Given the description of an element on the screen output the (x, y) to click on. 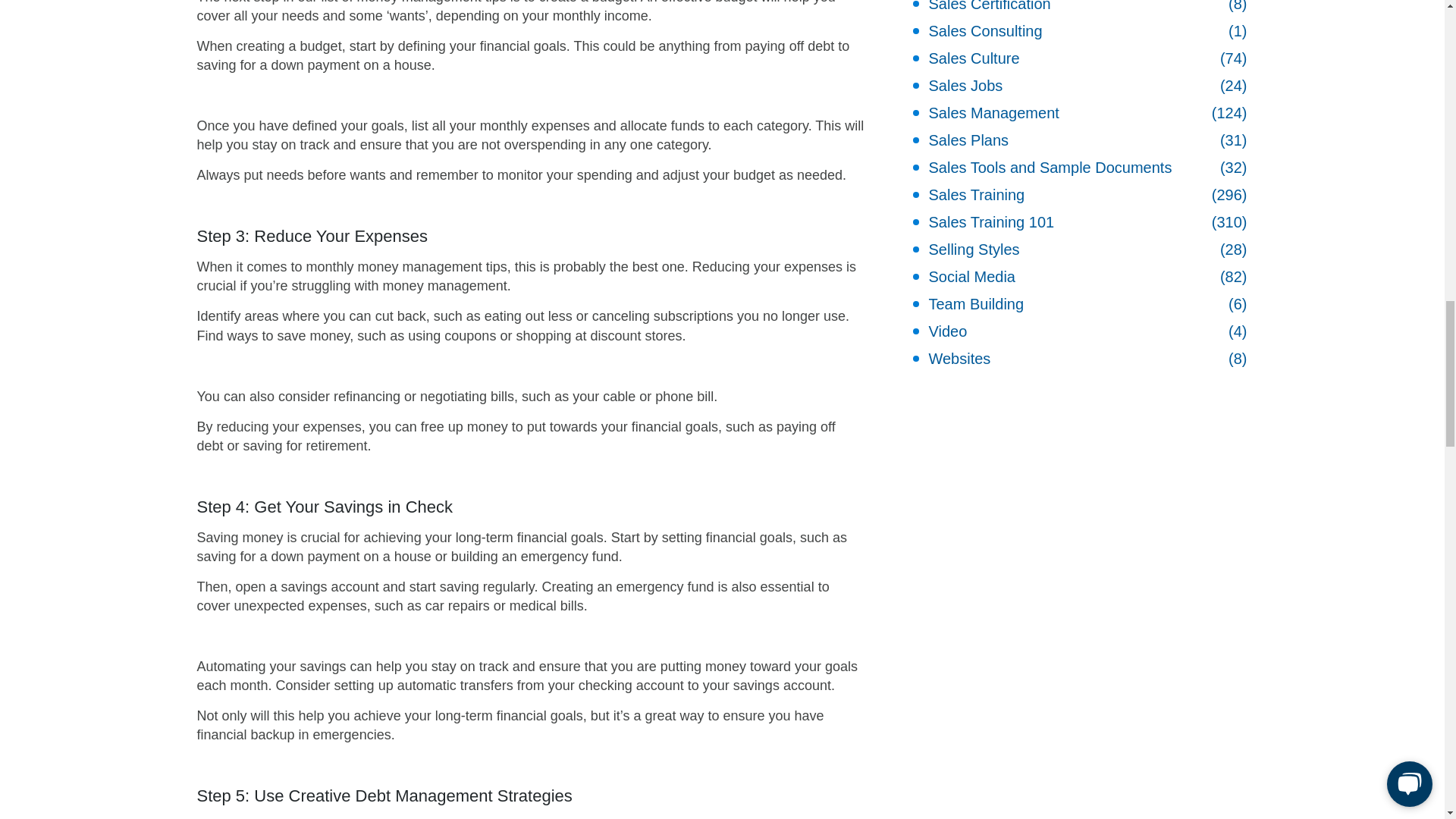
experts (712, 818)
